Given the description of an element on the screen output the (x, y) to click on. 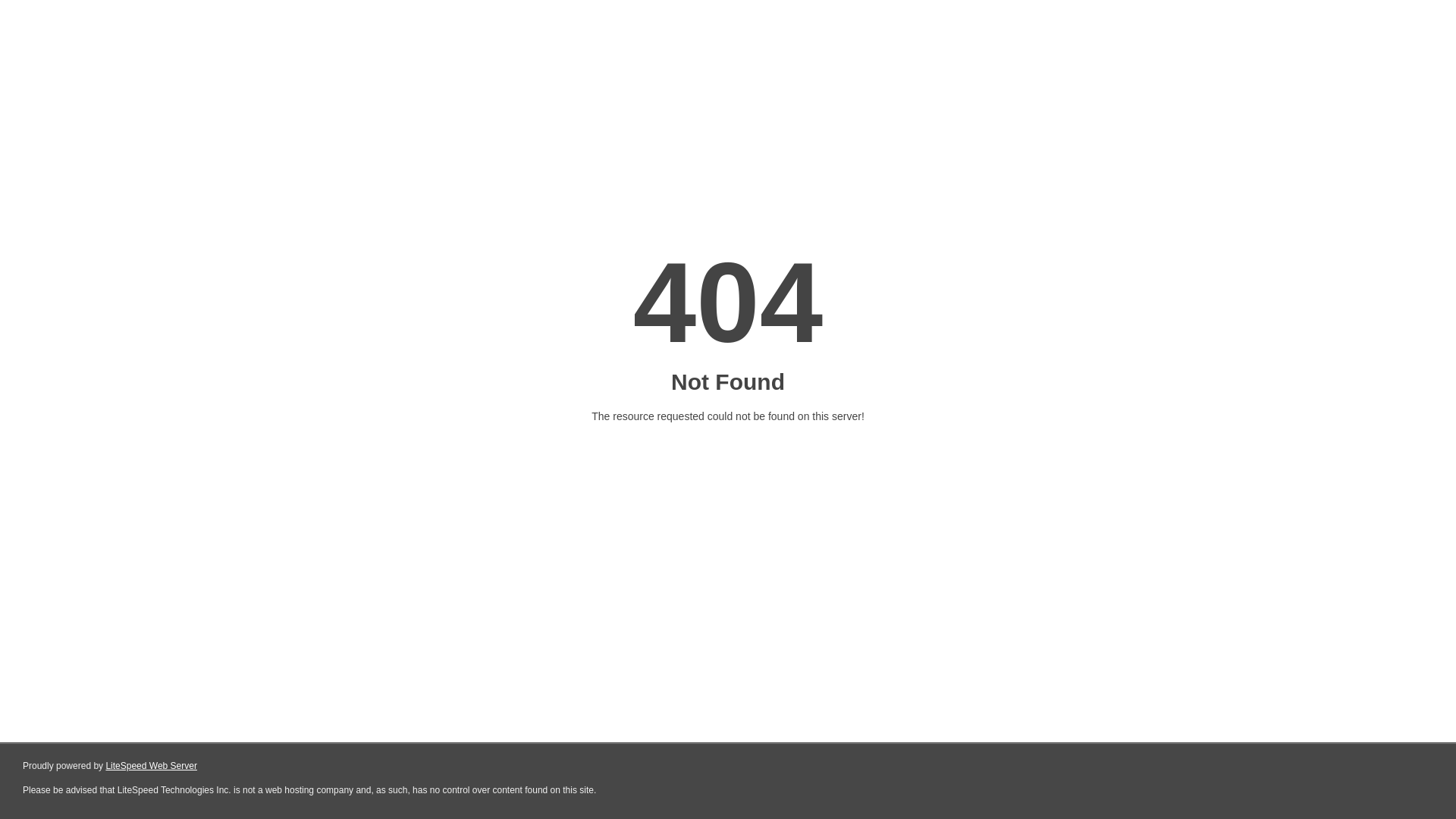
LiteSpeed Web Server Element type: text (151, 765)
